Given the description of an element on the screen output the (x, y) to click on. 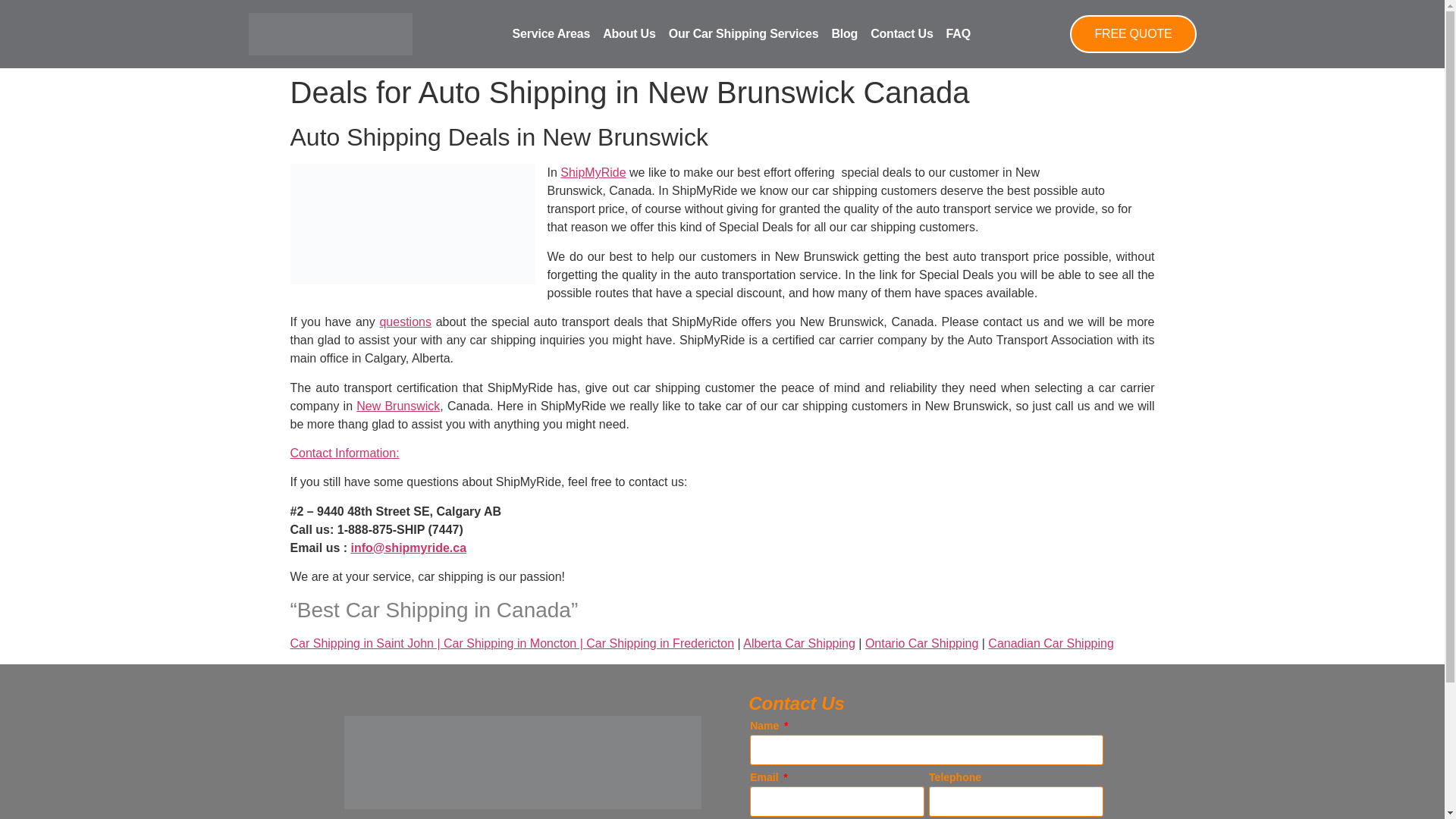
Our Car Shipping Services (743, 33)
Start with Car Shipping Service in Alberta Canada (799, 643)
FAQ (404, 321)
Home (1050, 643)
Car Shipping in Toronto Ontario Canada (921, 643)
Blog (844, 33)
About Us (629, 33)
Contact Us (901, 33)
FAQ (958, 33)
Service Areas (550, 33)
